Given the description of an element on the screen output the (x, y) to click on. 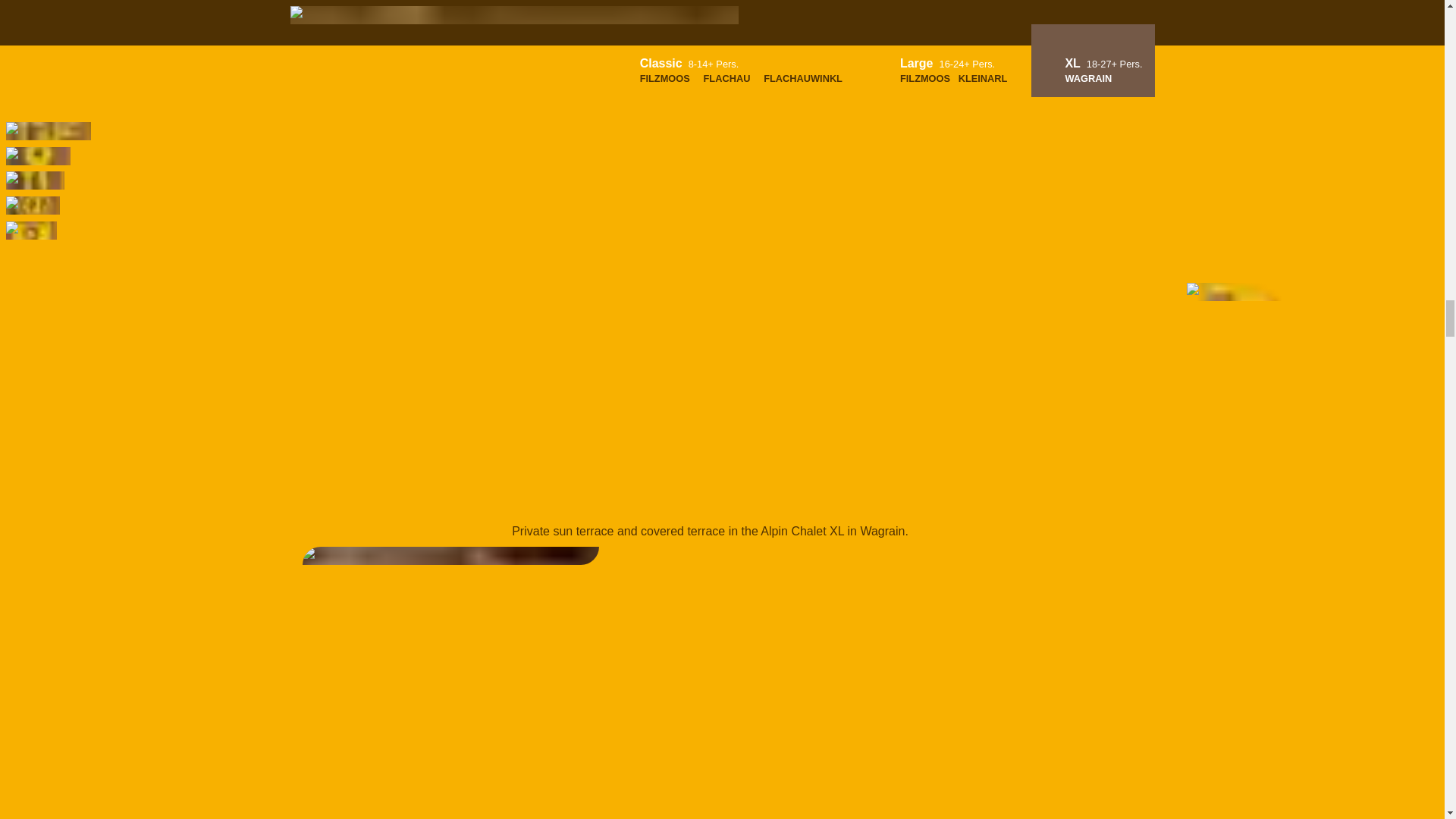
Private sun terrace in the Alpin Chalet XL in Wagrain. (709, 28)
